Given the description of an element on the screen output the (x, y) to click on. 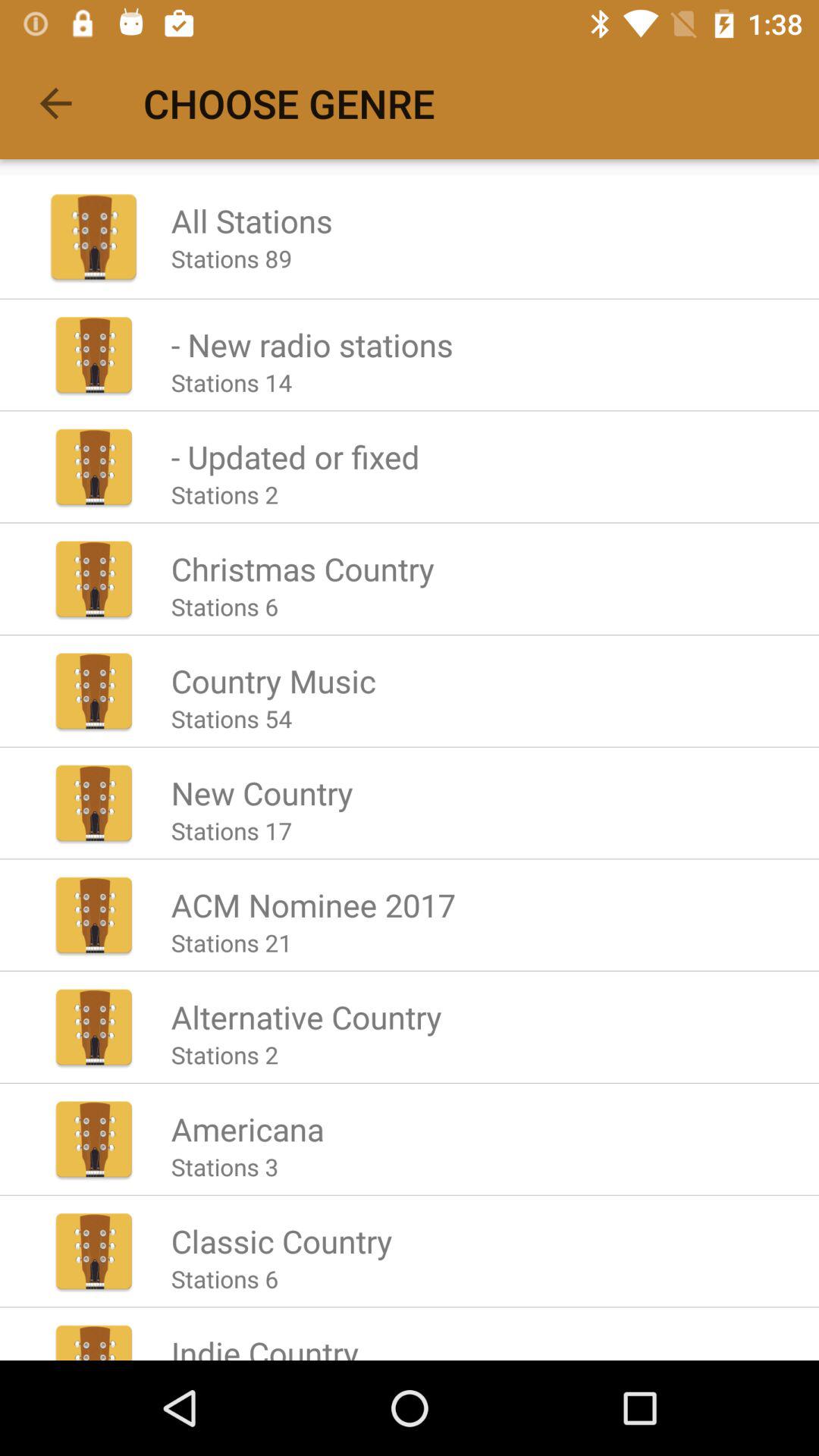
tap new country app (262, 792)
